Given the description of an element on the screen output the (x, y) to click on. 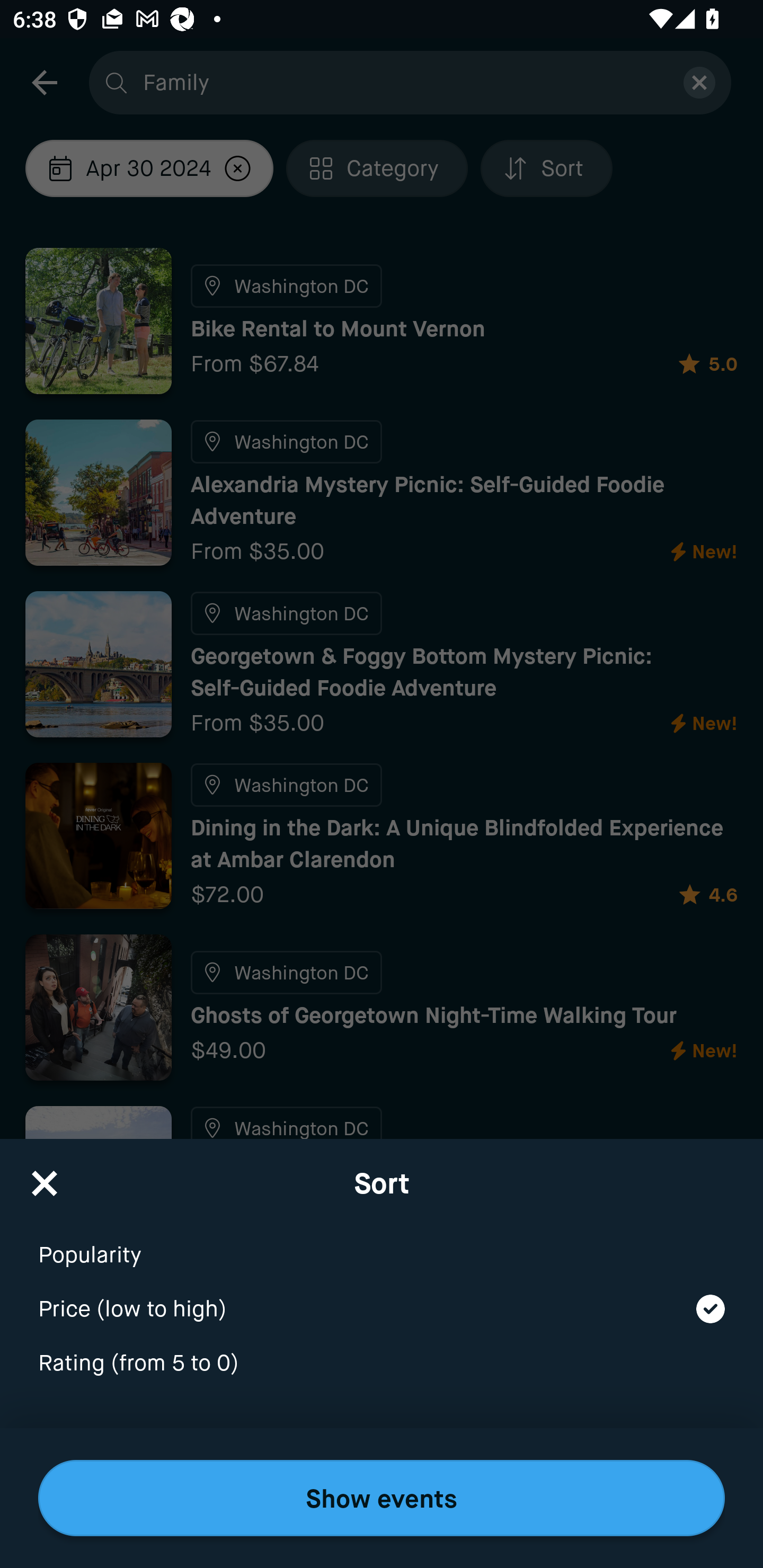
CloseButton (44, 1177)
Popularity (381, 1243)
Price (low to high) Selected Icon (381, 1297)
Rating (from 5 to 0) (381, 1362)
Show events (381, 1497)
